Given the description of an element on the screen output the (x, y) to click on. 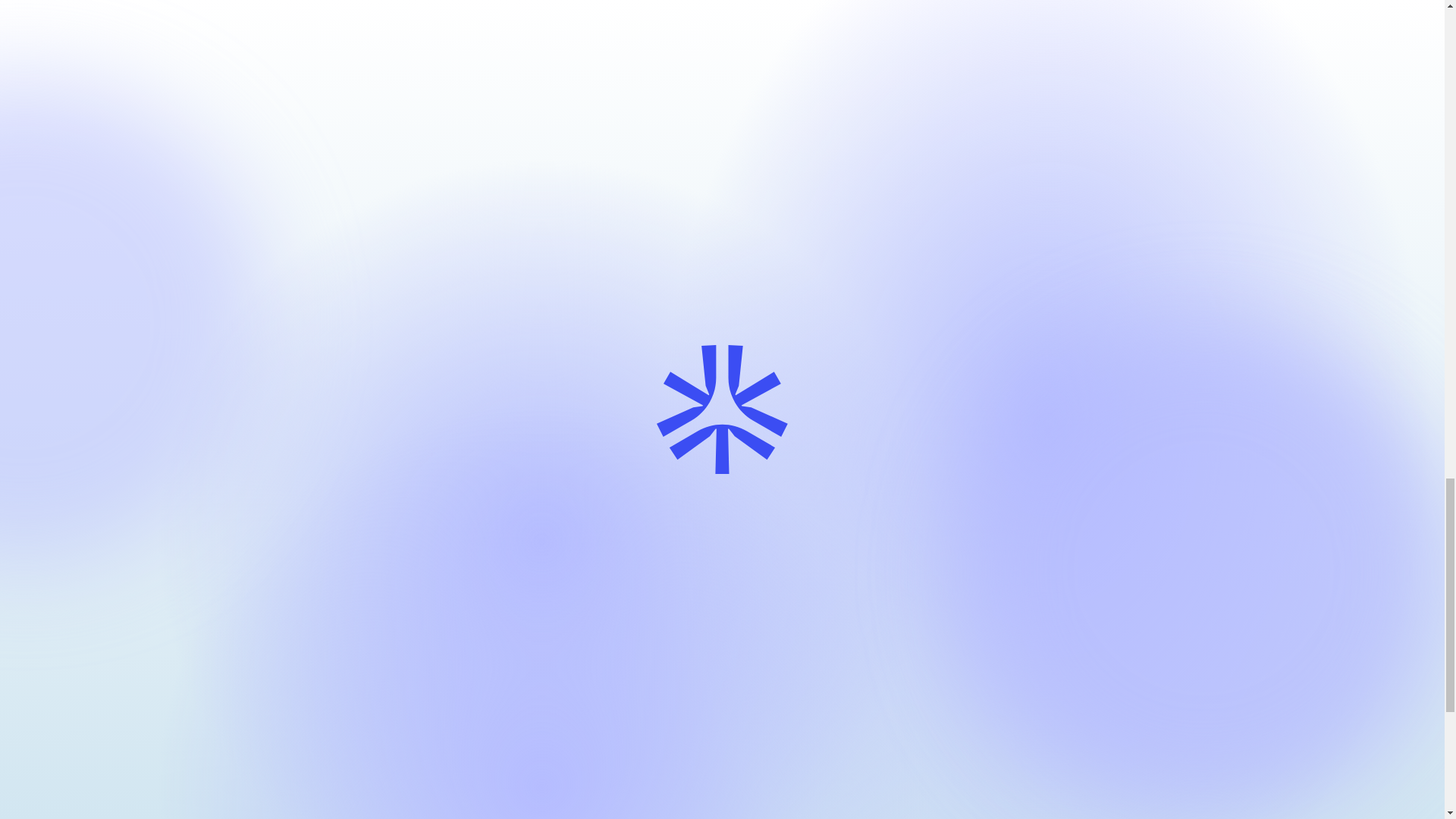
Louie Giglio (417, 208)
